Given the description of an element on the screen output the (x, y) to click on. 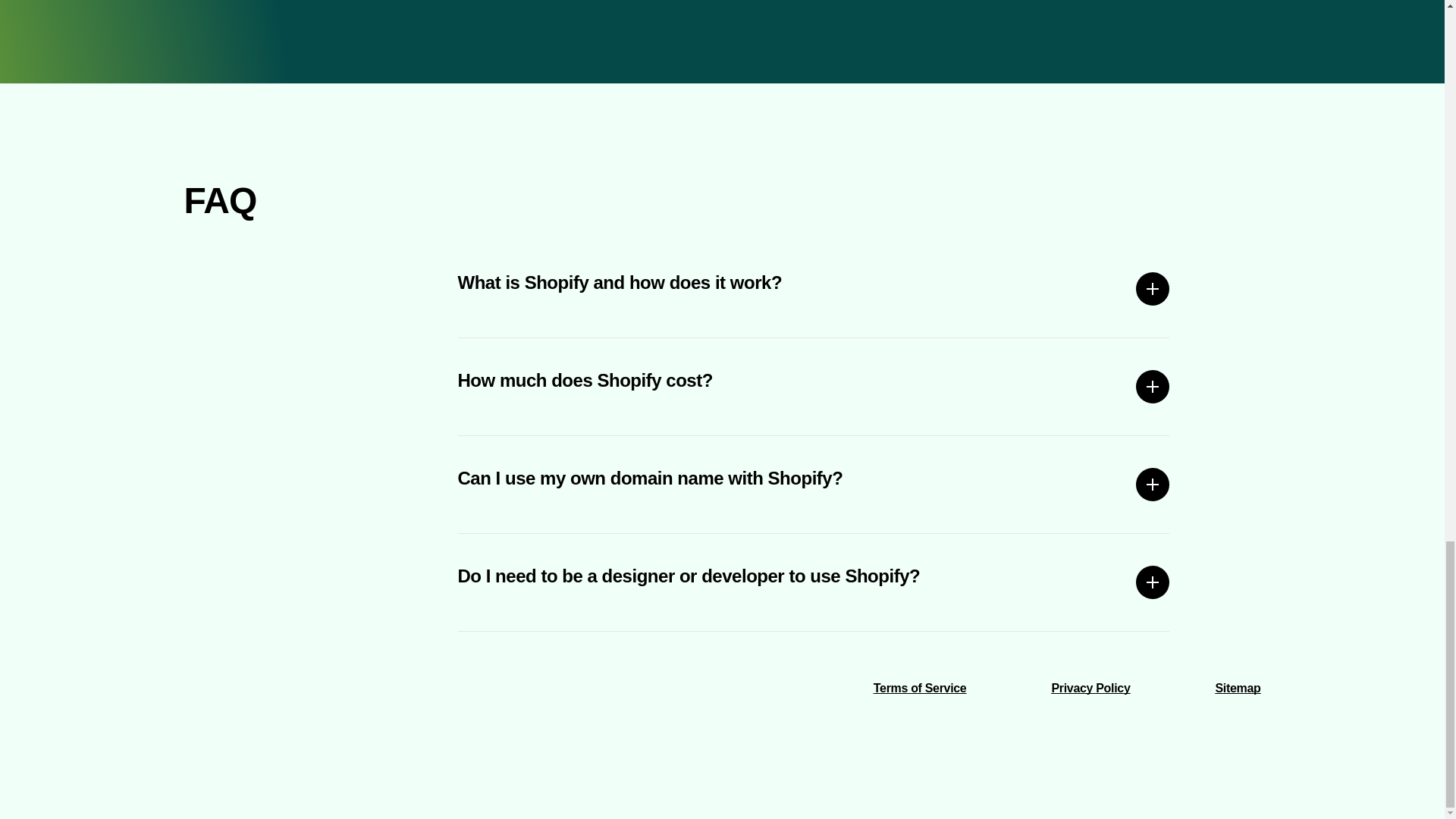
Privacy Policy (1090, 687)
Terms of Service (919, 687)
Can I use my own domain name with Shopify? (814, 484)
How much does Shopify cost? (814, 386)
Sitemap (1237, 687)
What is Shopify and how does it work? (814, 289)
Do I need to be a designer or developer to use Shopify? (814, 582)
